Given the description of an element on the screen output the (x, y) to click on. 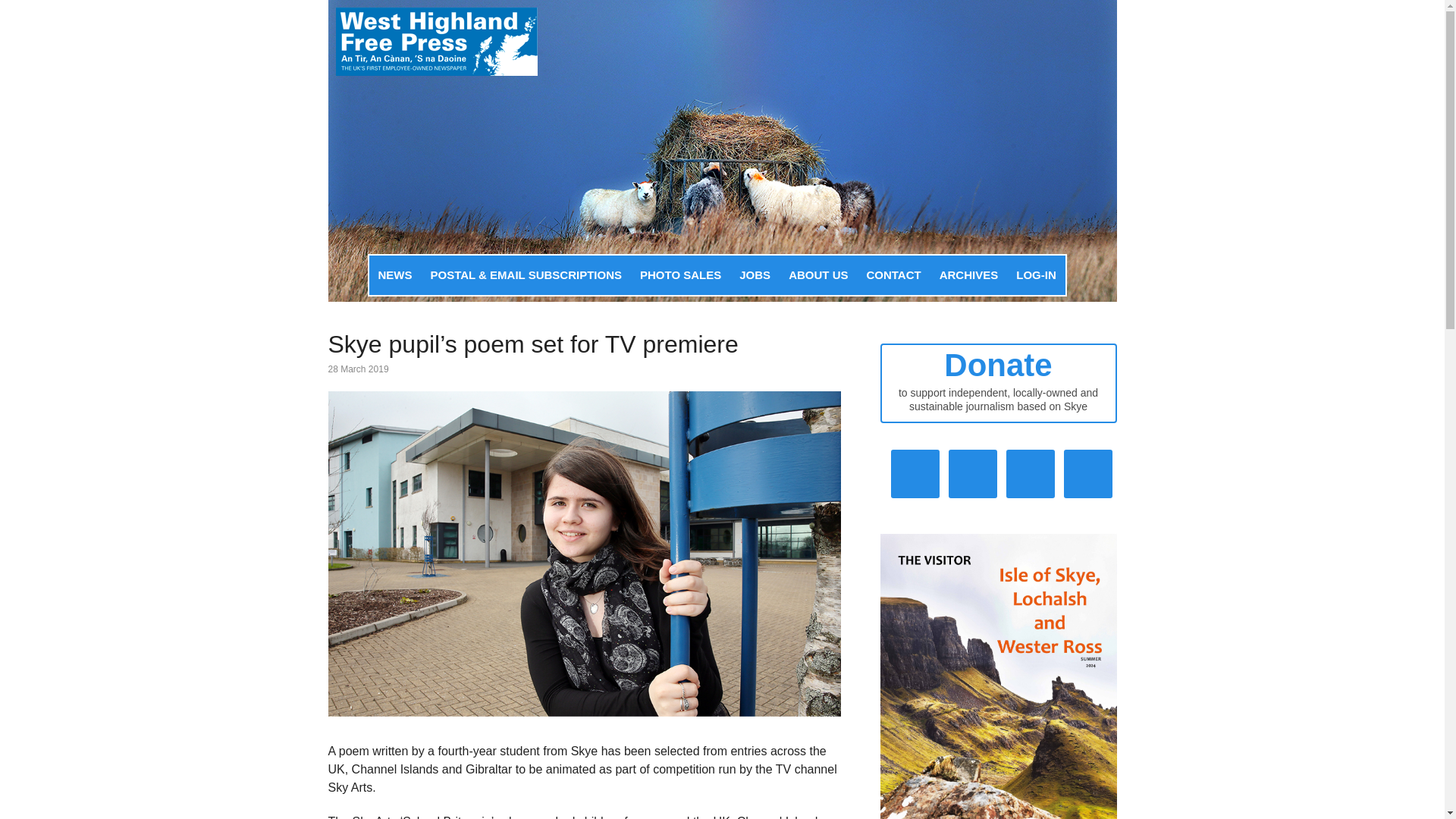
NEWS (394, 274)
PHOTO SALES (680, 274)
ABOUT US (817, 274)
LOG-IN (1036, 274)
ARCHIVES (968, 274)
CONTACT (893, 274)
JOBS (754, 274)
